Given the description of an element on the screen output the (x, y) to click on. 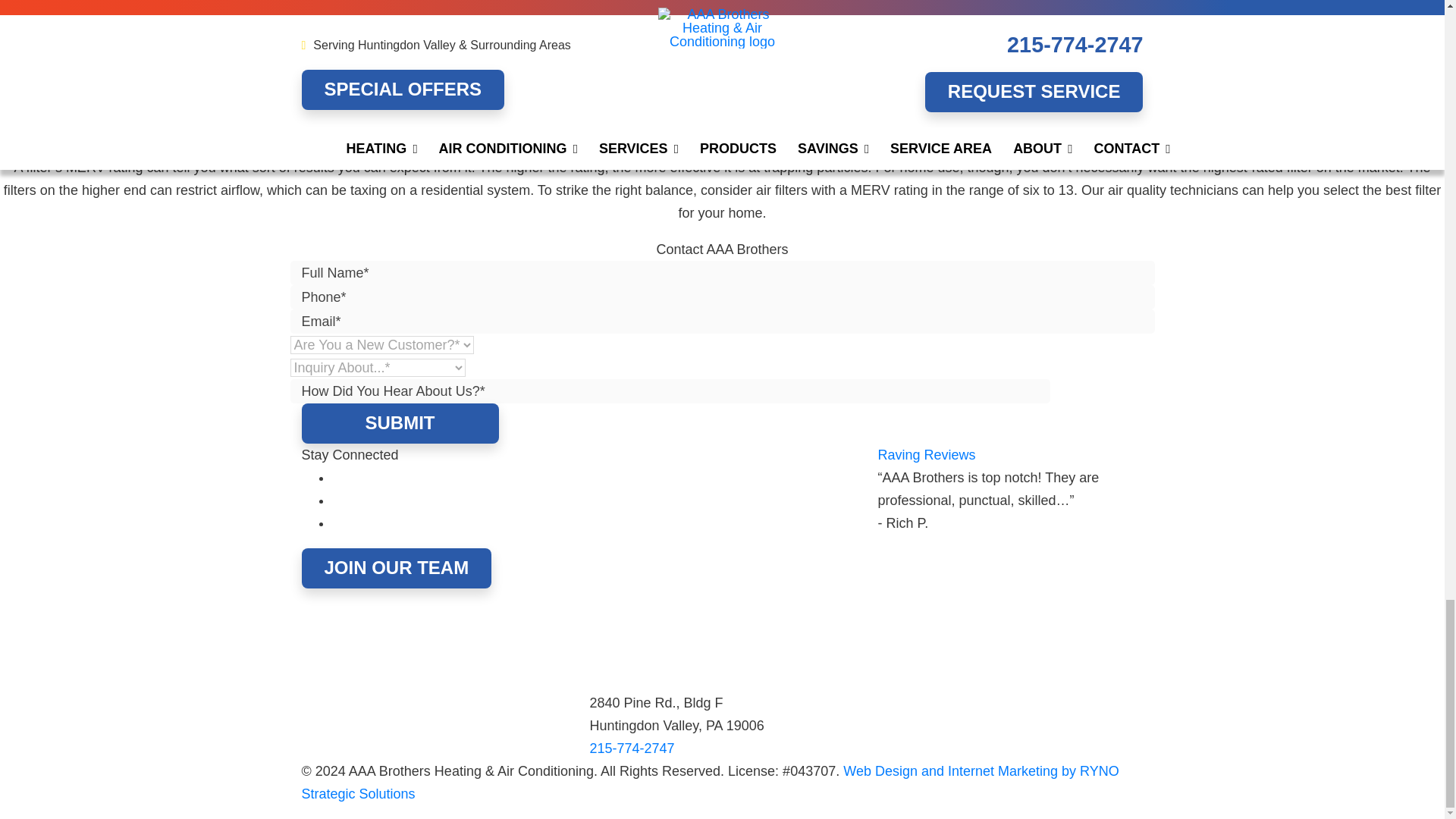
Submit (400, 423)
